Given the description of an element on the screen output the (x, y) to click on. 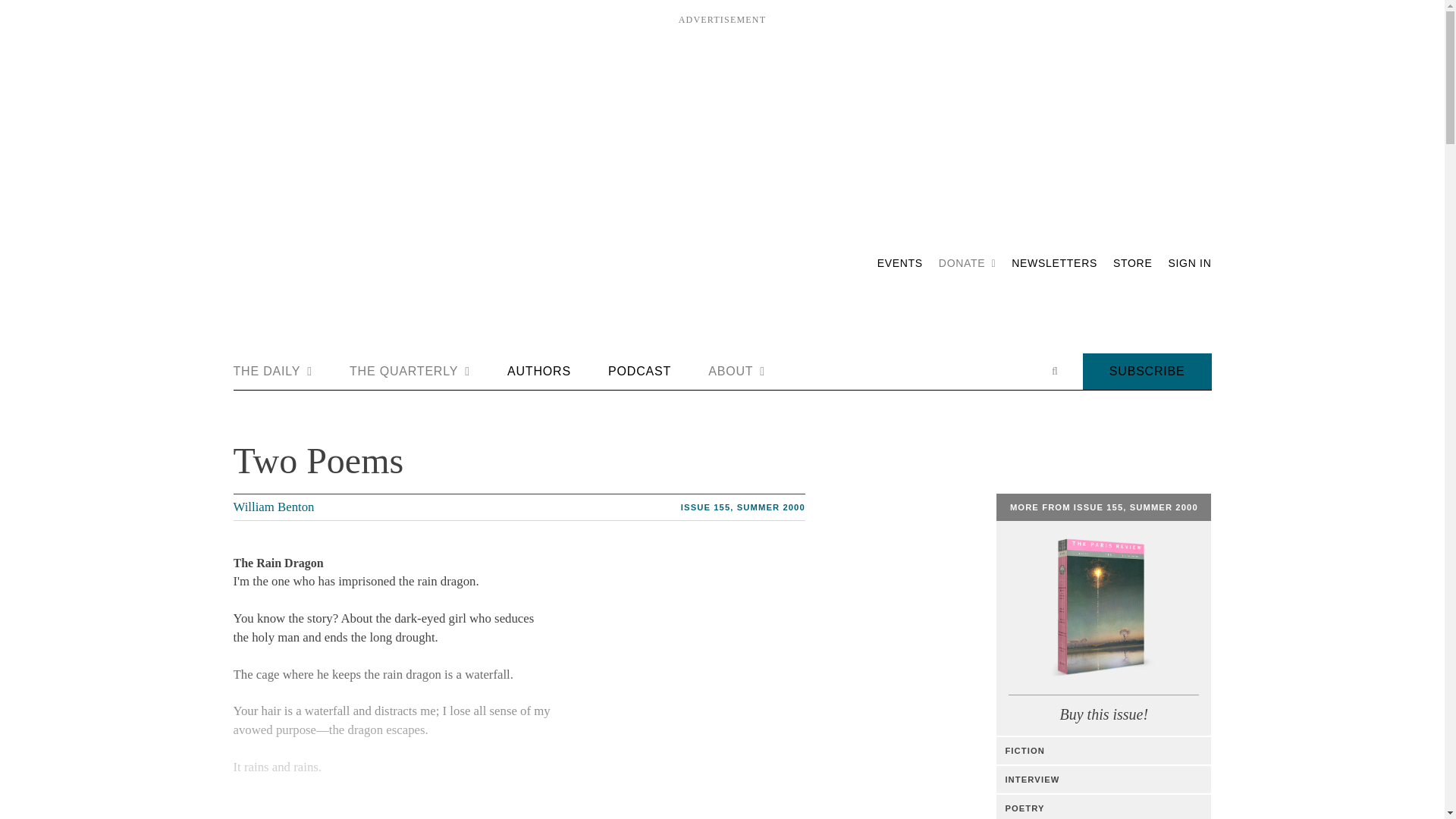
Open search (1054, 371)
THE DAILY (272, 371)
THE QUARTERLY (409, 371)
